Given the description of an element on the screen output the (x, y) to click on. 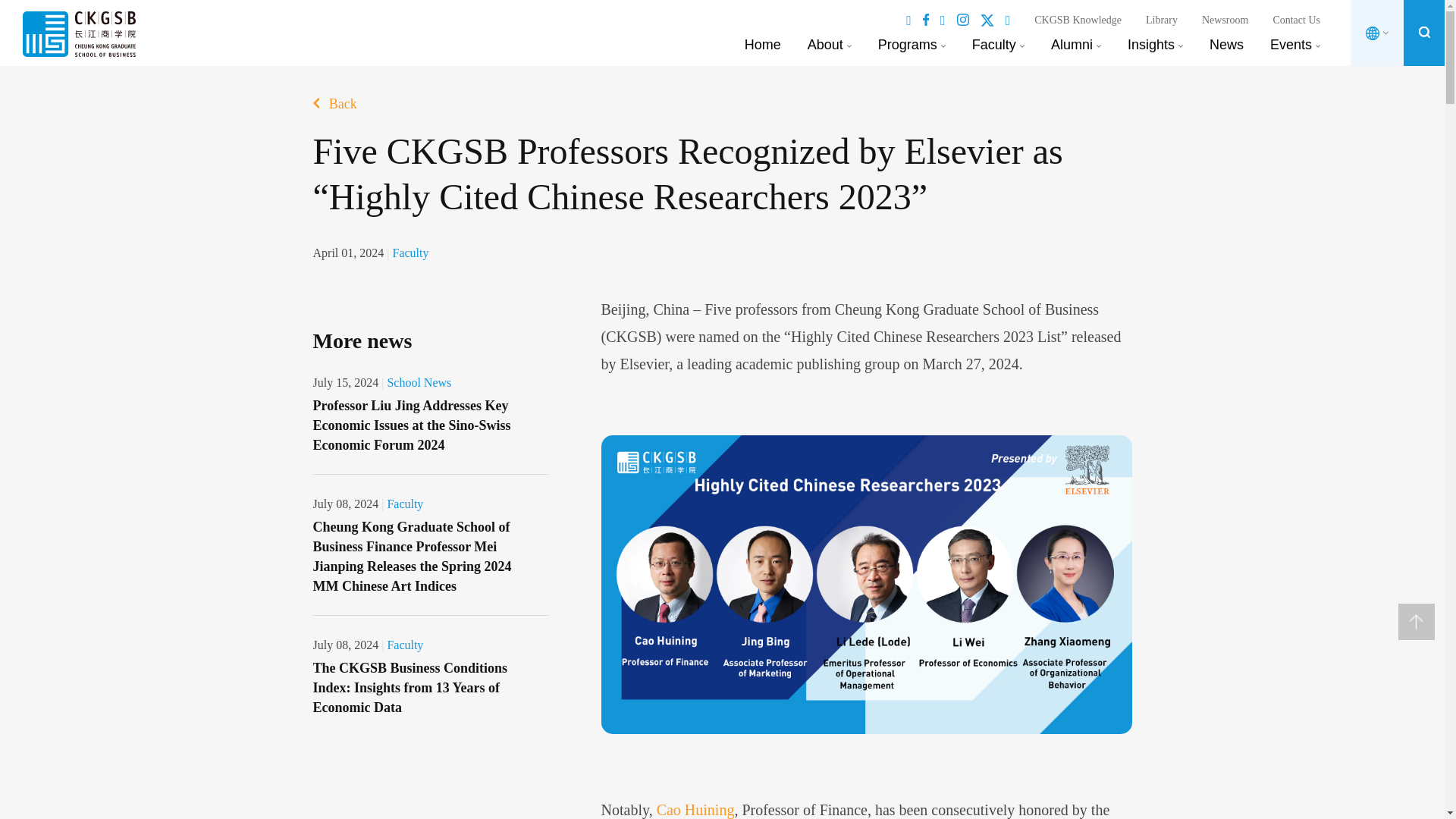
Home (762, 44)
CKGSB Knowledge (1077, 19)
Newsroom (1224, 19)
About (825, 44)
Library (1161, 19)
Contact Us (1296, 19)
